Given the description of an element on the screen output the (x, y) to click on. 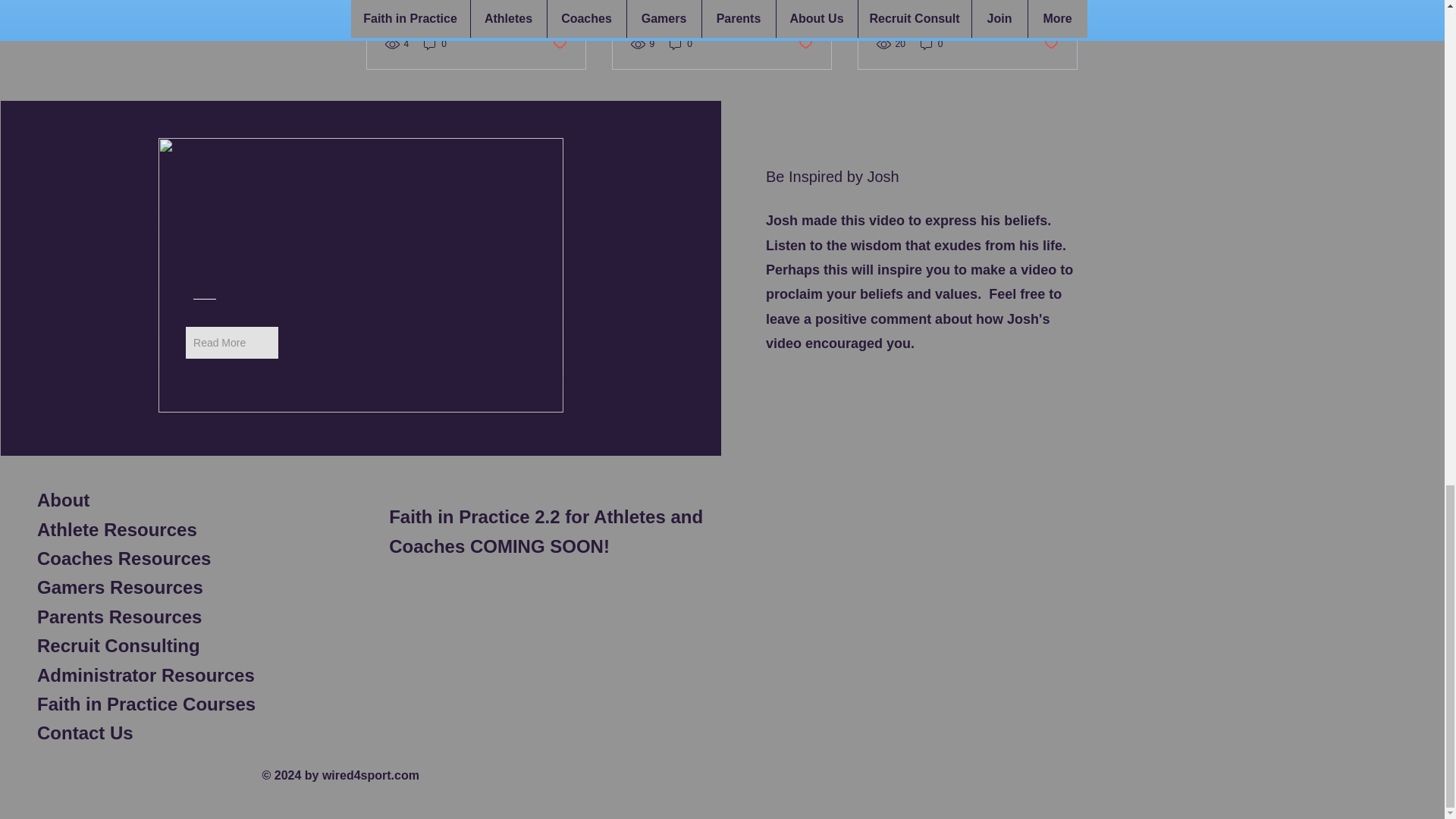
CRASH COURSE on Smash Brothers (476, 3)
0 (435, 43)
